Given the description of an element on the screen output the (x, y) to click on. 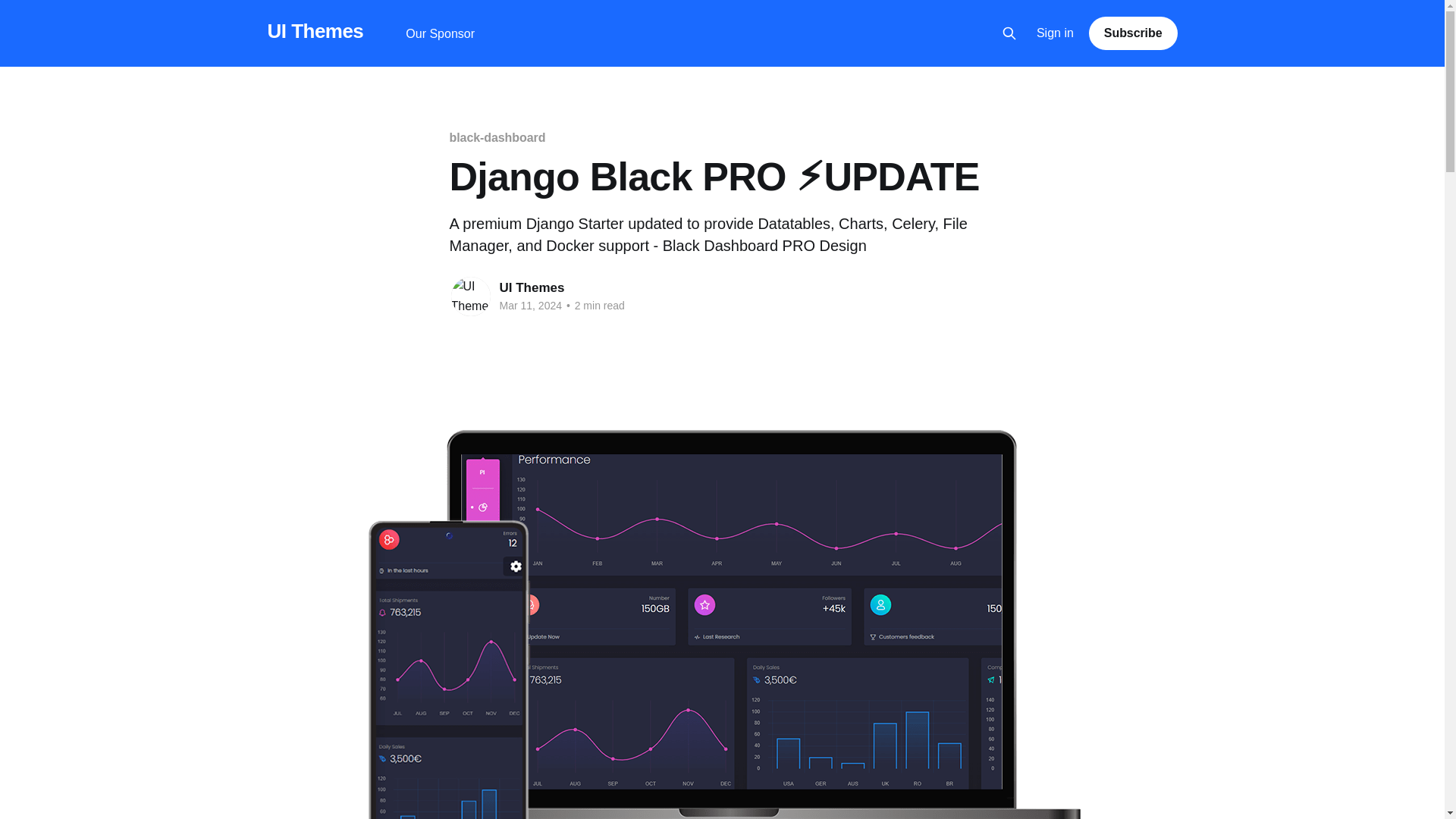
UI Themes (314, 31)
Our Sponsor (440, 33)
UI Themes (531, 287)
Sign in (1055, 33)
black-dashboard (496, 137)
Subscribe (1133, 32)
